Given the description of an element on the screen output the (x, y) to click on. 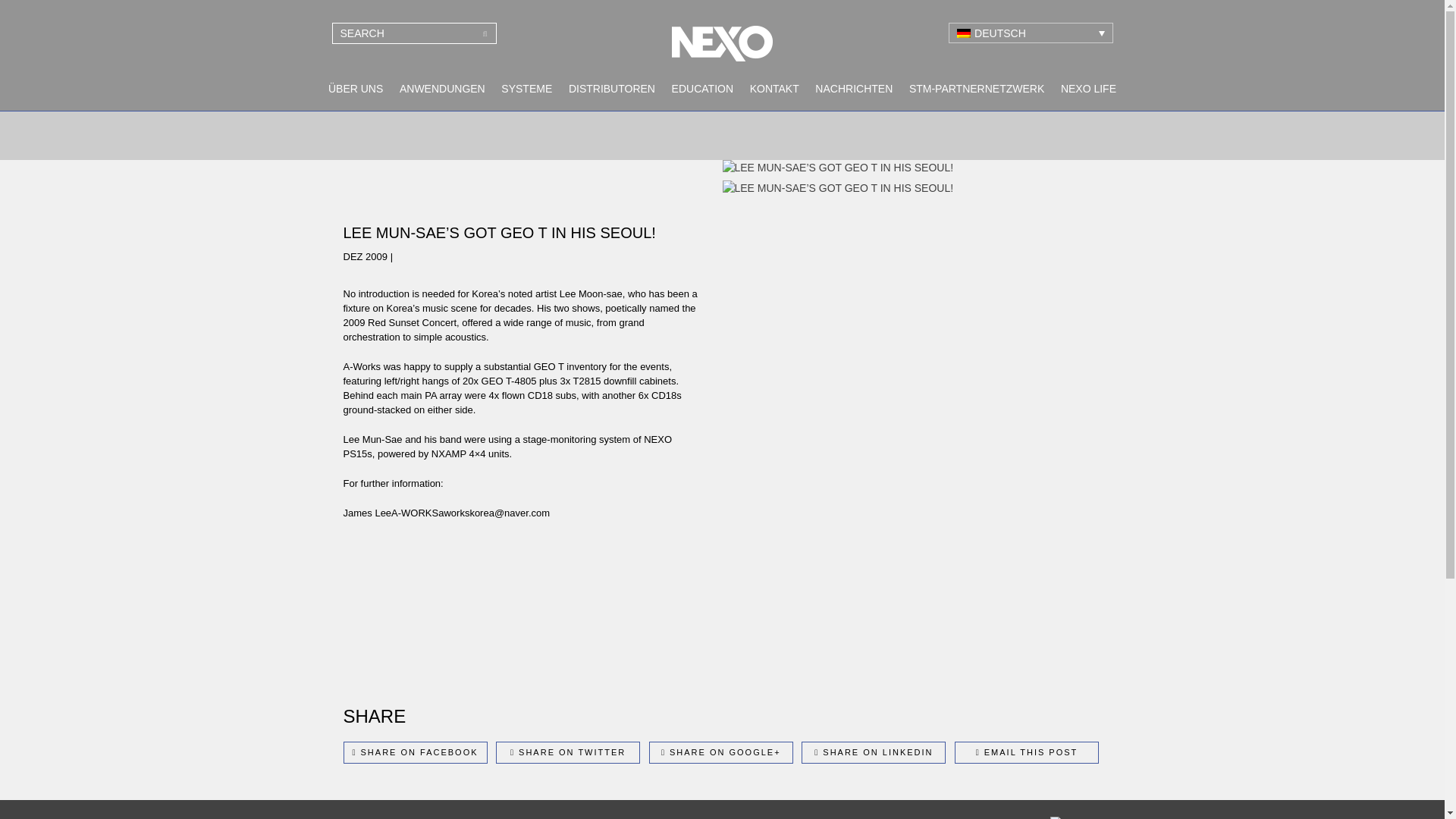
ANWENDUNGEN (442, 89)
Search for: (413, 33)
DEUTSCH (1029, 32)
SEARCH (485, 33)
SYSTEME (527, 89)
